Given the description of an element on the screen output the (x, y) to click on. 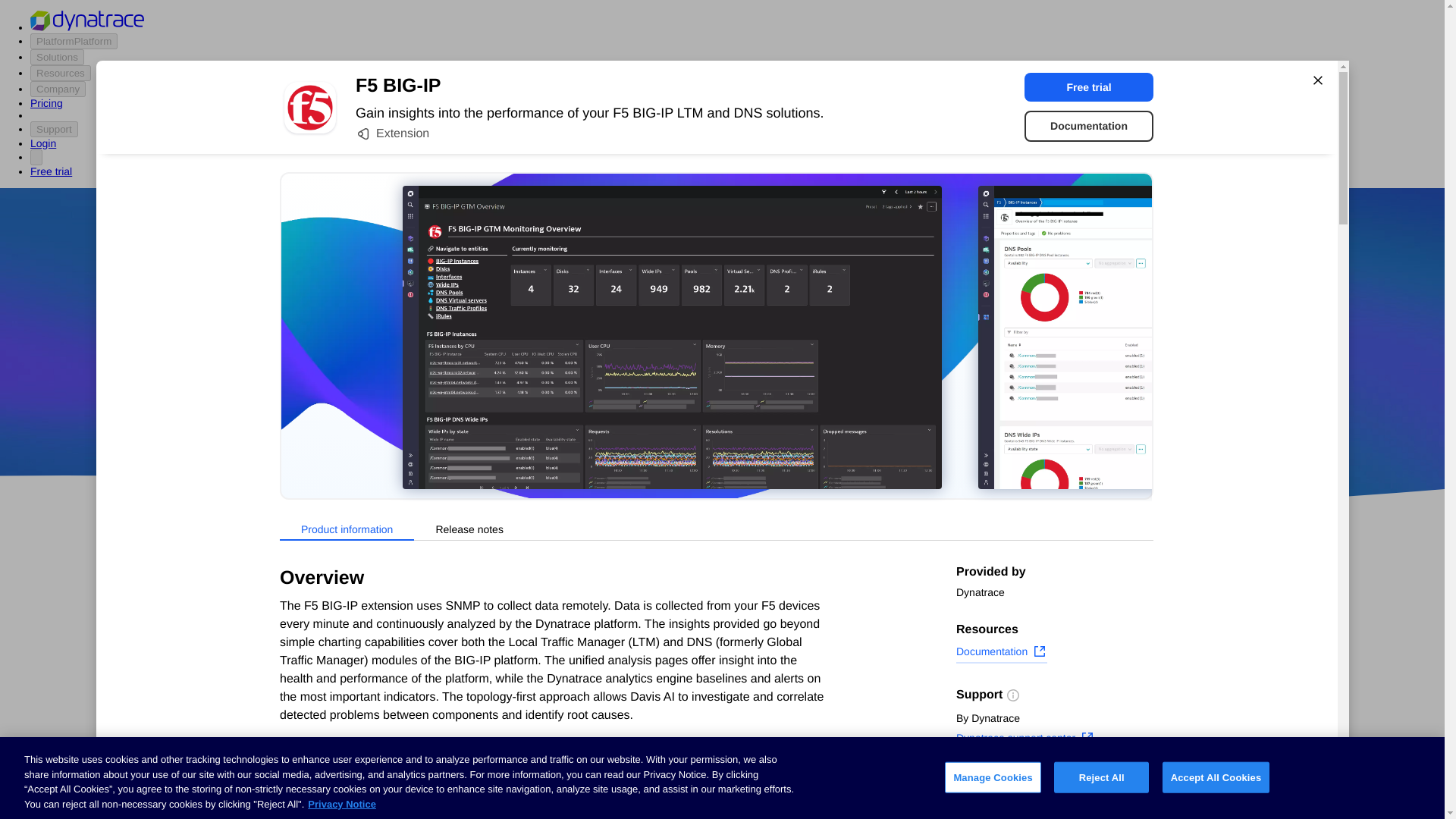
Azure (681, 418)
Open source (903, 418)
DevOps (829, 418)
Subscribe to new releases (1054, 782)
Free trial (1089, 86)
Documentation (1001, 653)
360performance (840, 375)
Documentation (1089, 125)
Advanced SSL Certificate Check for Dynatrace (606, 731)
AWS (637, 418)
Dynatrace support center (1025, 740)
Google Cloud (751, 418)
360performance (840, 375)
Copy page link (1003, 806)
 certificate ssl synthetic test (607, 793)
